Given the description of an element on the screen output the (x, y) to click on. 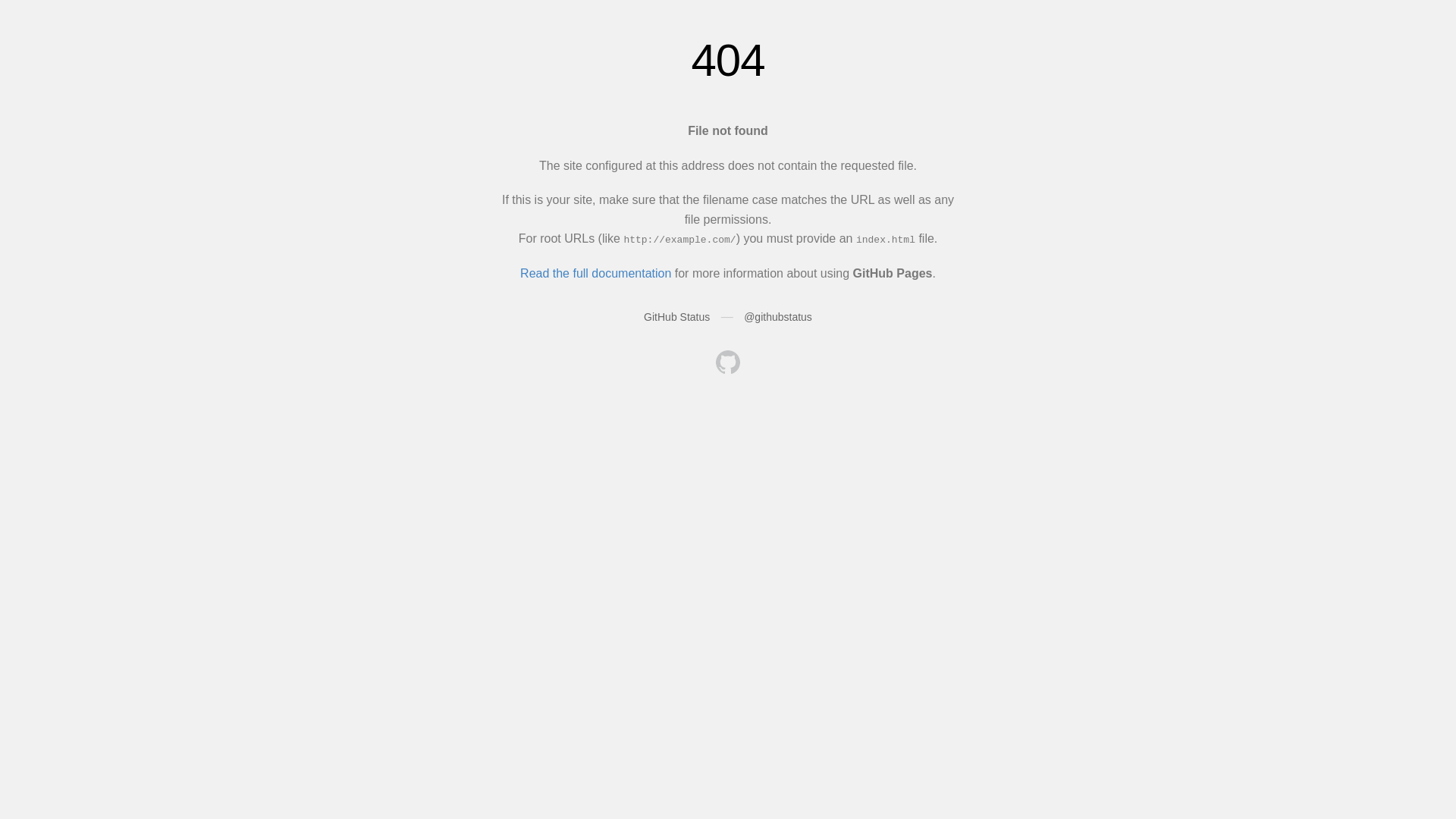
@githubstatus Element type: text (777, 316)
GitHub Status Element type: text (676, 316)
Read the full documentation Element type: text (595, 272)
